Given the description of an element on the screen output the (x, y) to click on. 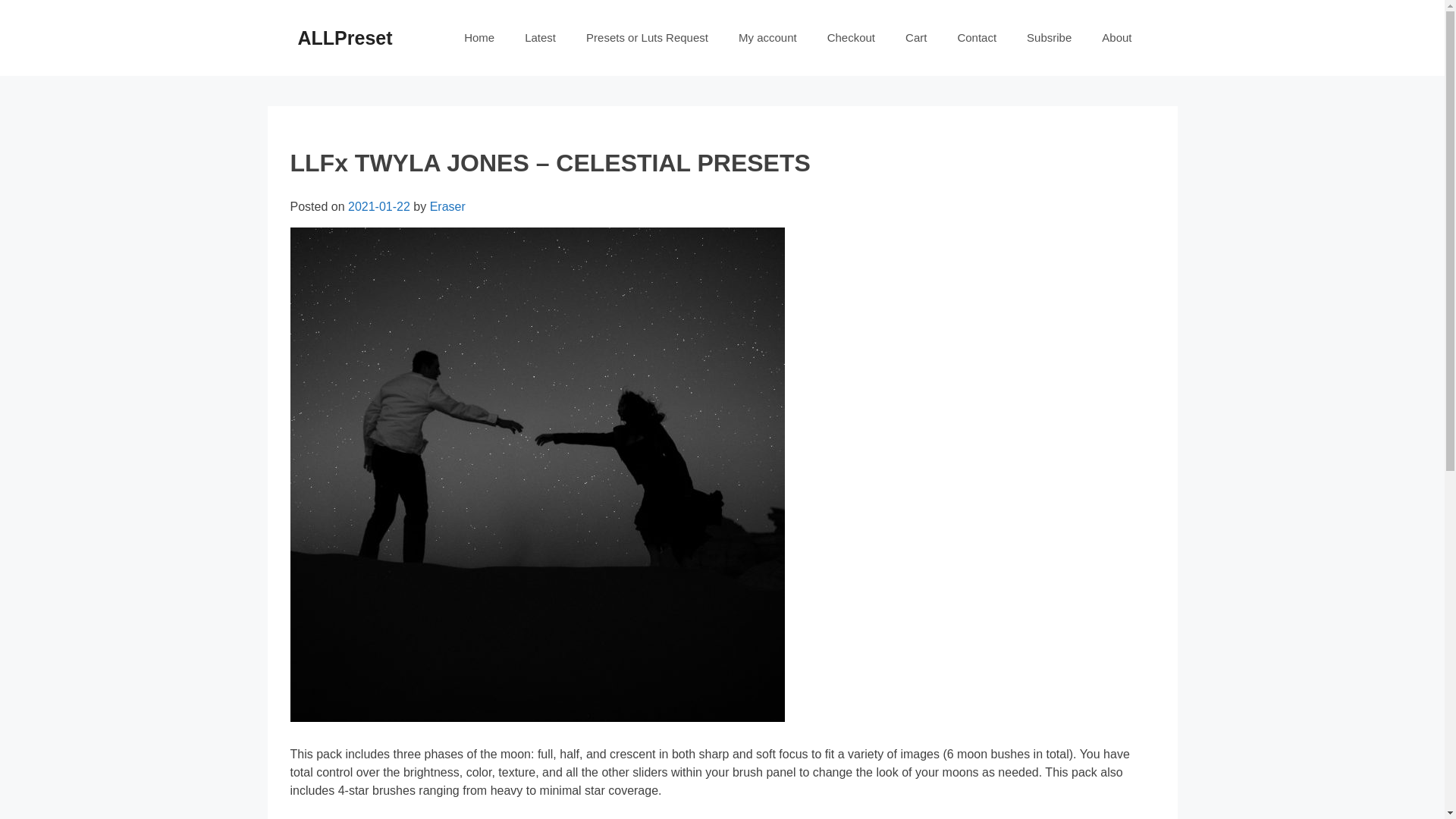
Subsribe (1048, 37)
Eraser (447, 205)
My account (767, 37)
ALLPreset (344, 37)
2021-01-22 (378, 205)
About (1116, 37)
Contact (976, 37)
Home (478, 37)
Latest (539, 37)
Checkout (850, 37)
